Given the description of an element on the screen output the (x, y) to click on. 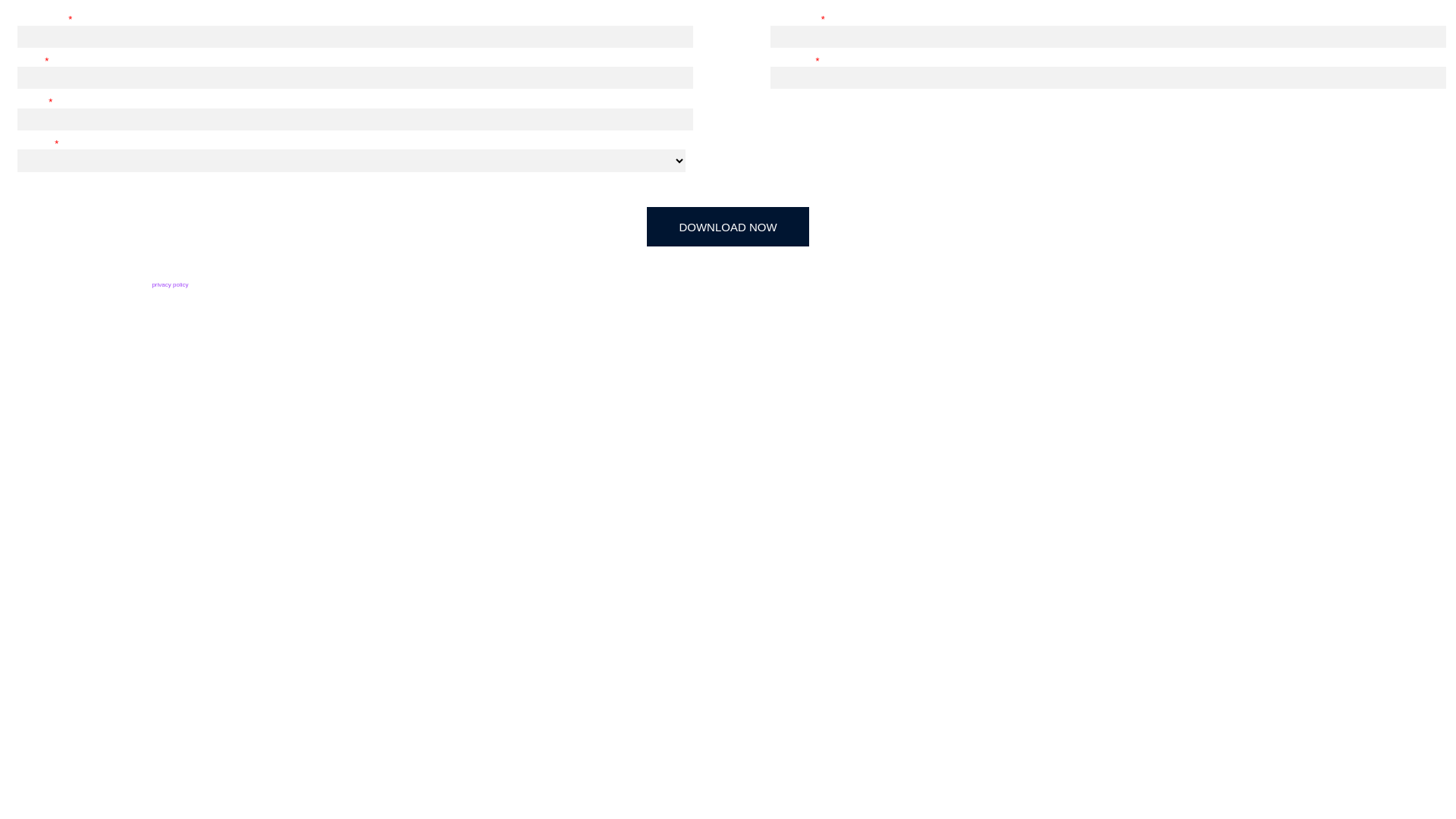
privacy policy Element type: text (169, 284)
Download Now Element type: text (727, 226)
